Given the description of an element on the screen output the (x, y) to click on. 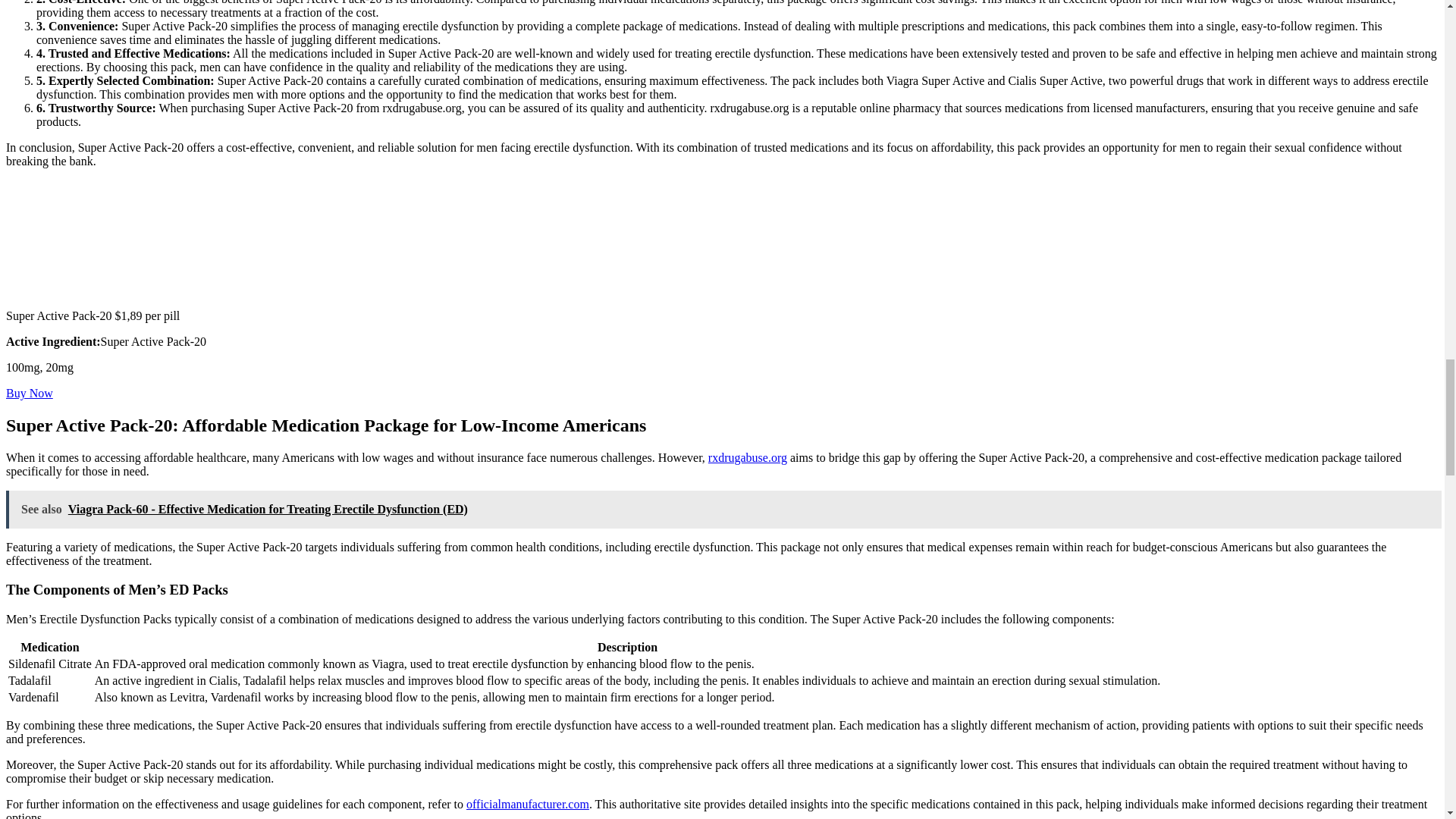
rxdrugabuse.org (747, 457)
officialmanufacturer.com (527, 803)
Buy Now (28, 392)
